Given the description of an element on the screen output the (x, y) to click on. 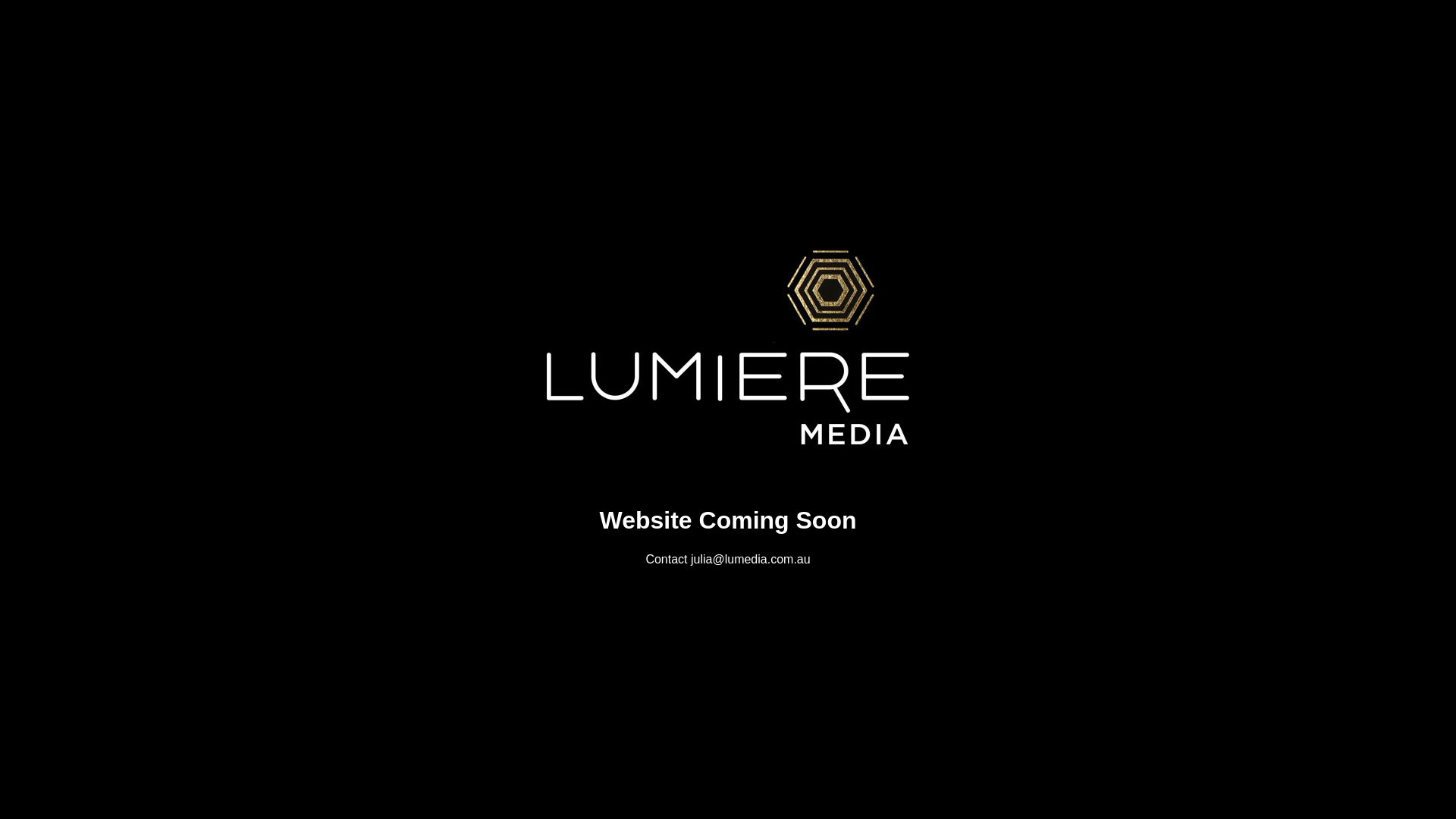
julia@lumedia.com.au Element type: text (750, 558)
